Given the description of an element on the screen output the (x, y) to click on. 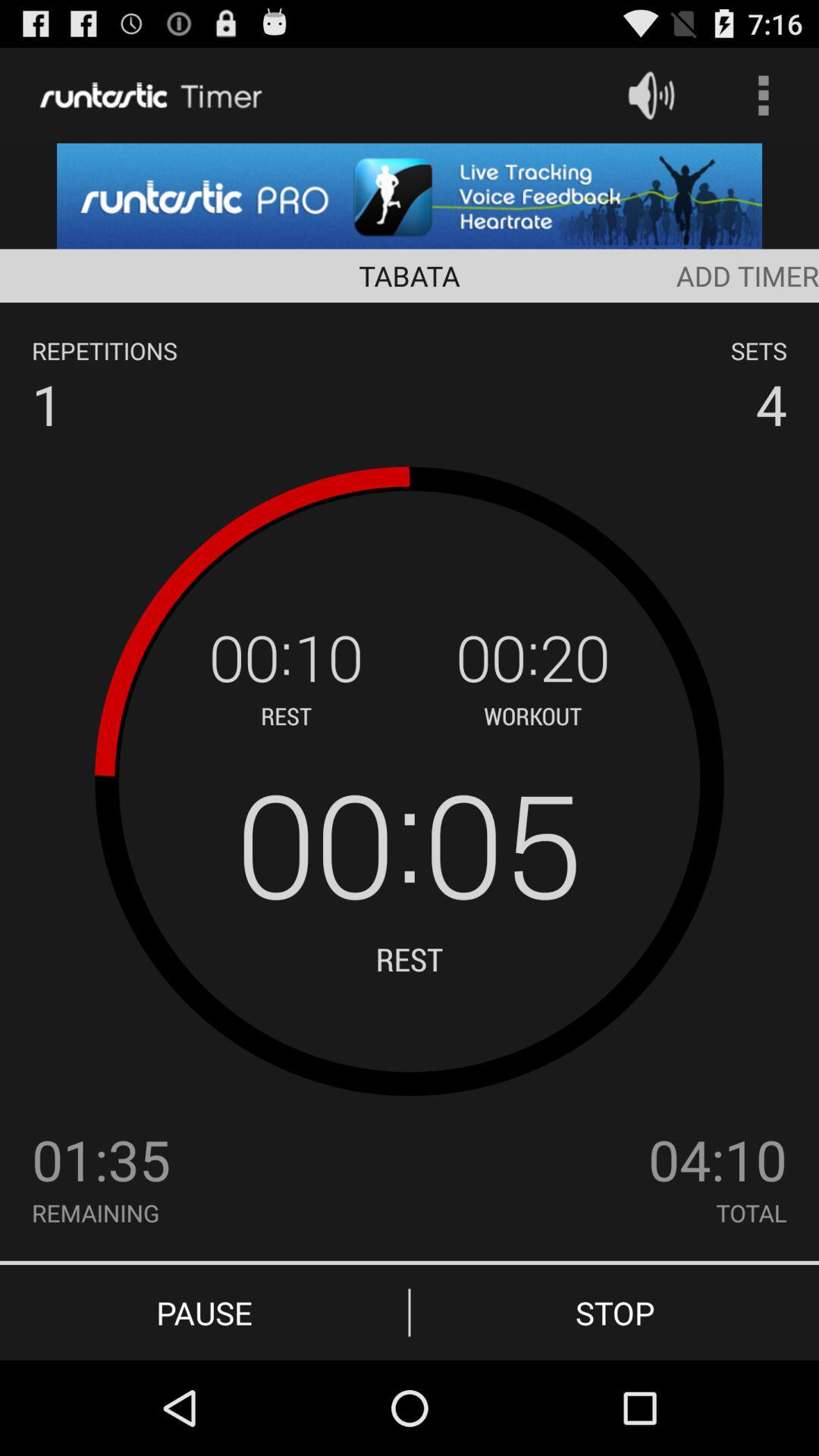
swipe to the stop (614, 1312)
